Given the description of an element on the screen output the (x, y) to click on. 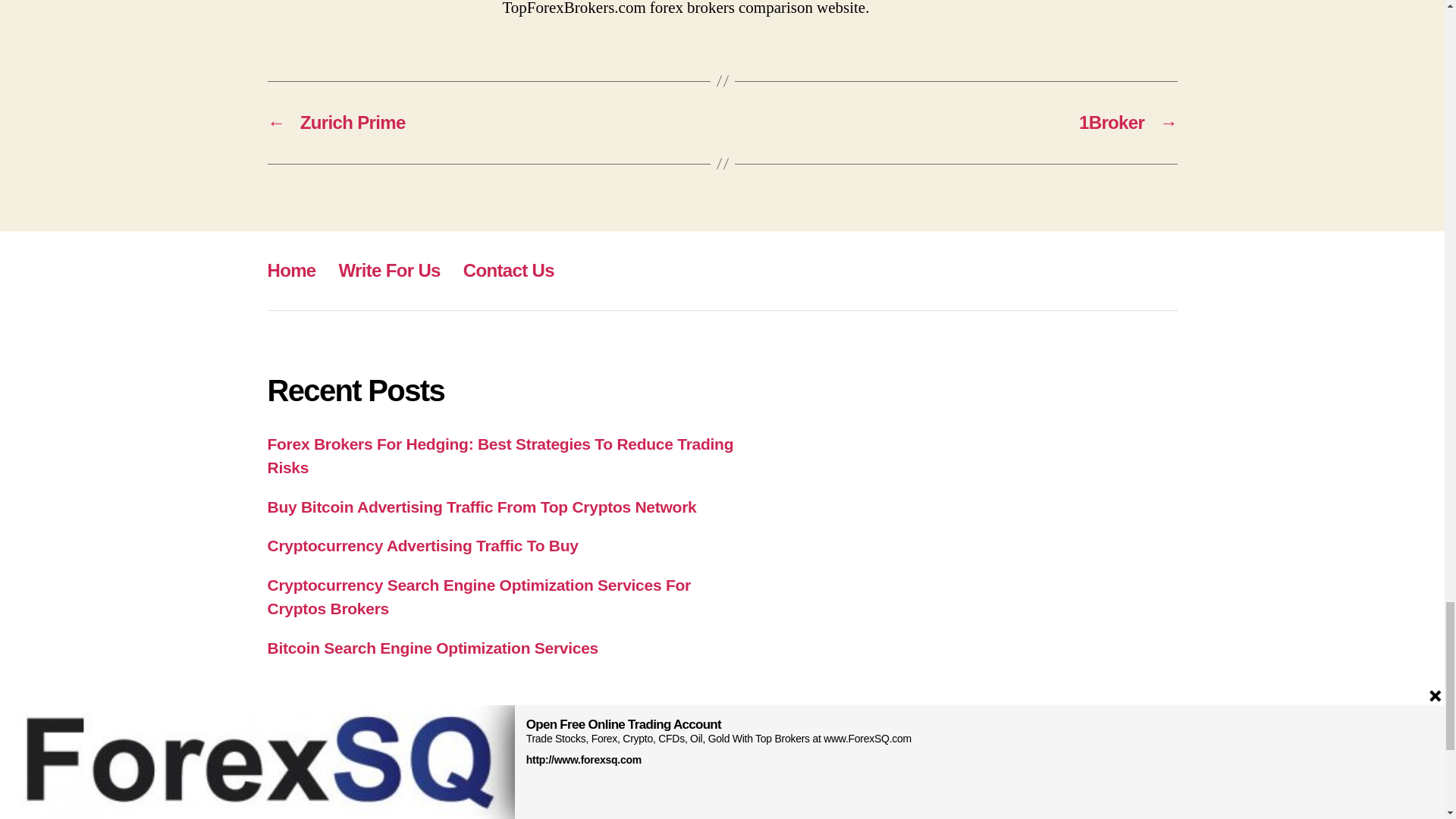
bittrex support (313, 785)
Write For Us (390, 270)
content marketing institute blog (534, 787)
Buy Bitcoin Advertising Traffic From Top Cryptos Network (480, 506)
Bitcoin Search Engine Optimization Services (432, 647)
cryptocurrency guest post (648, 787)
content marketing institute (418, 787)
Contact Us (508, 270)
